Given the description of an element on the screen output the (x, y) to click on. 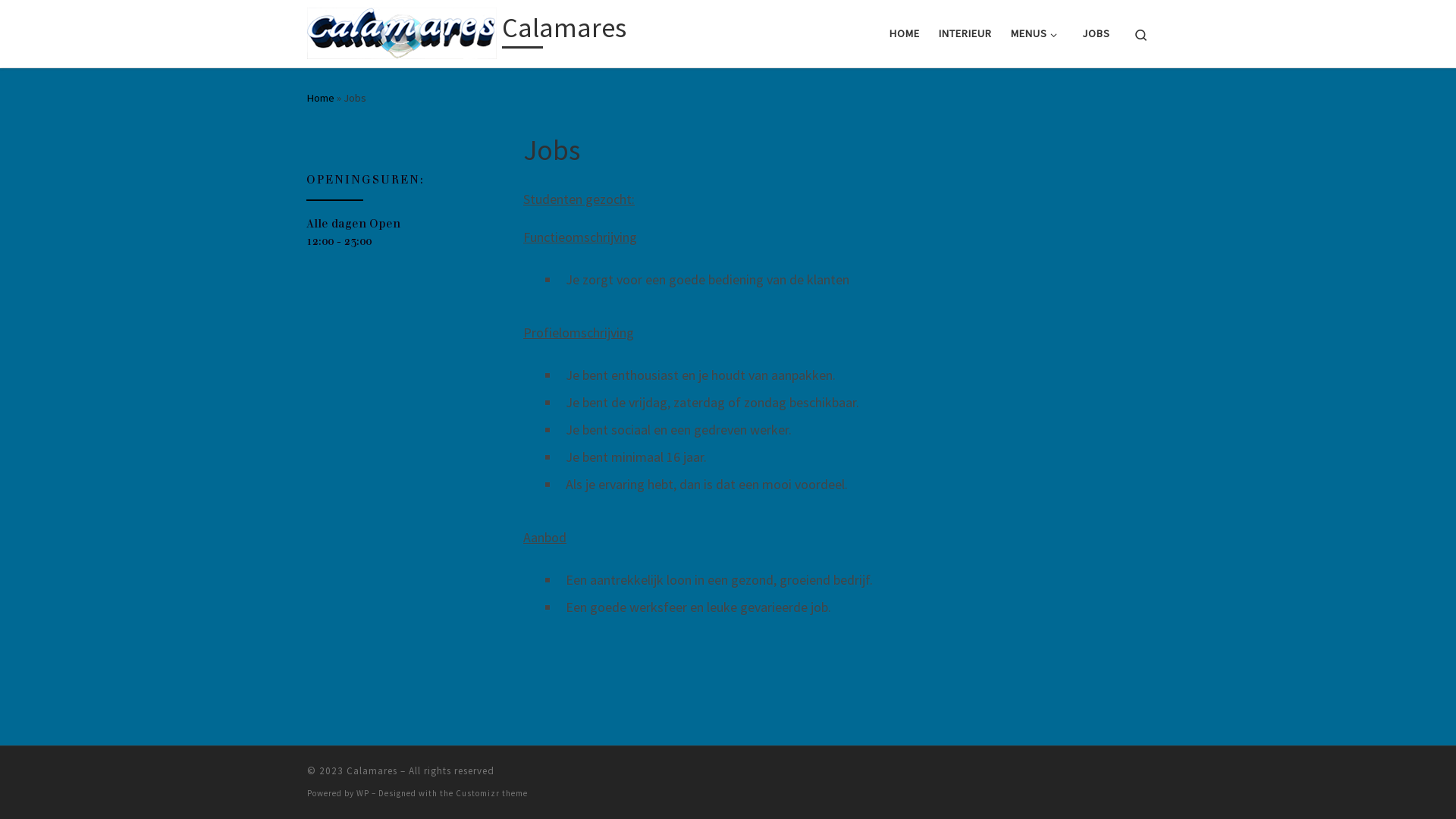
JOBS Element type: text (1096, 33)
Home Element type: text (320, 97)
Customizr theme Element type: text (491, 792)
MENUS Element type: text (1036, 33)
WP Element type: text (362, 792)
HOME Element type: text (904, 33)
Skip to content Element type: text (57, 21)
Search Element type: text (1140, 33)
Calamares Element type: text (564, 31)
Calamares Element type: text (371, 770)
INTERIEUR Element type: text (964, 33)
